Given the description of an element on the screen output the (x, y) to click on. 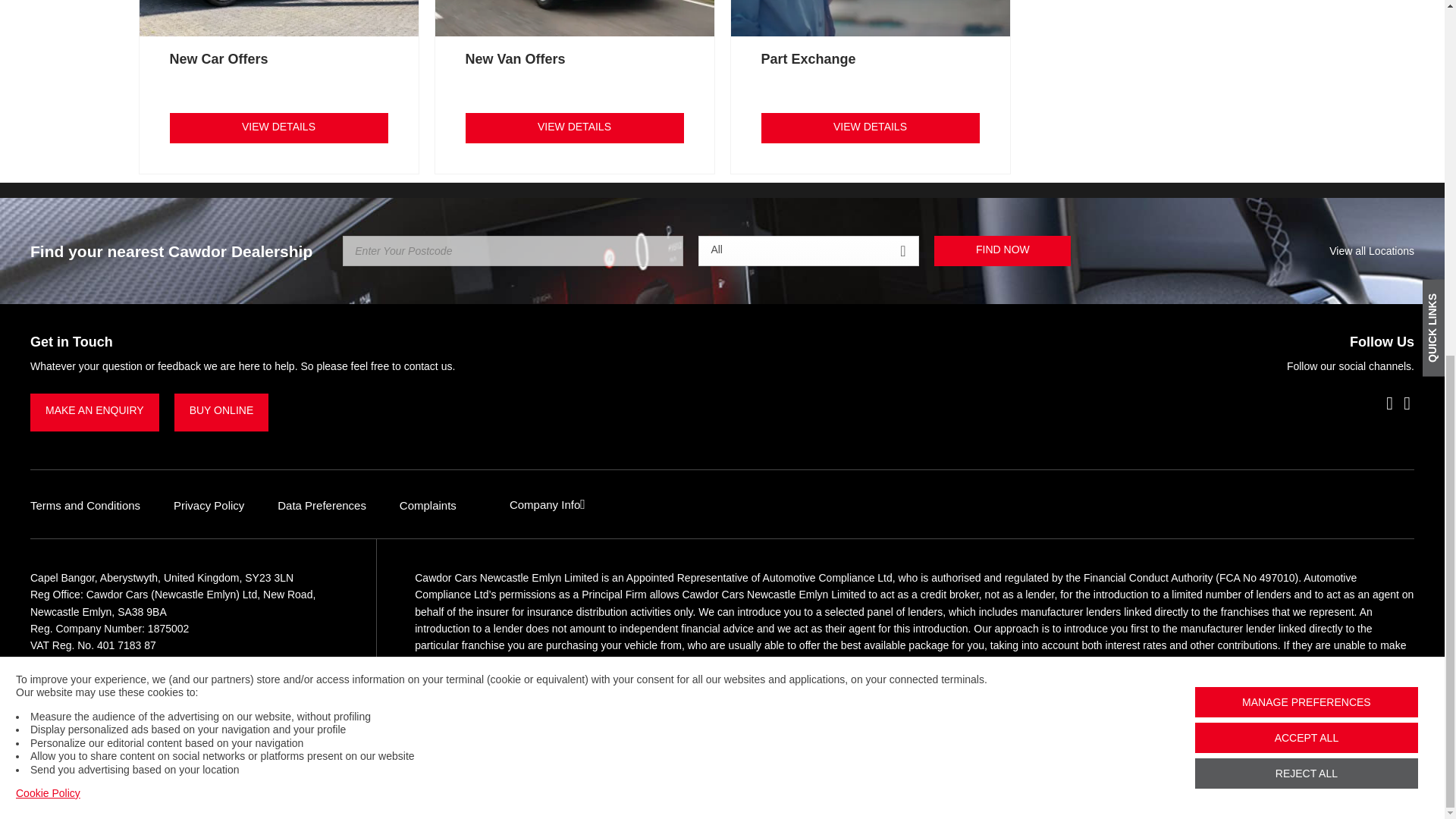
Cookie Policy (48, 169)
ACCEPT ALL (1306, 112)
REJECT ALL (1306, 148)
MANAGE PREFERENCES (1306, 77)
